Given the description of an element on the screen output the (x, y) to click on. 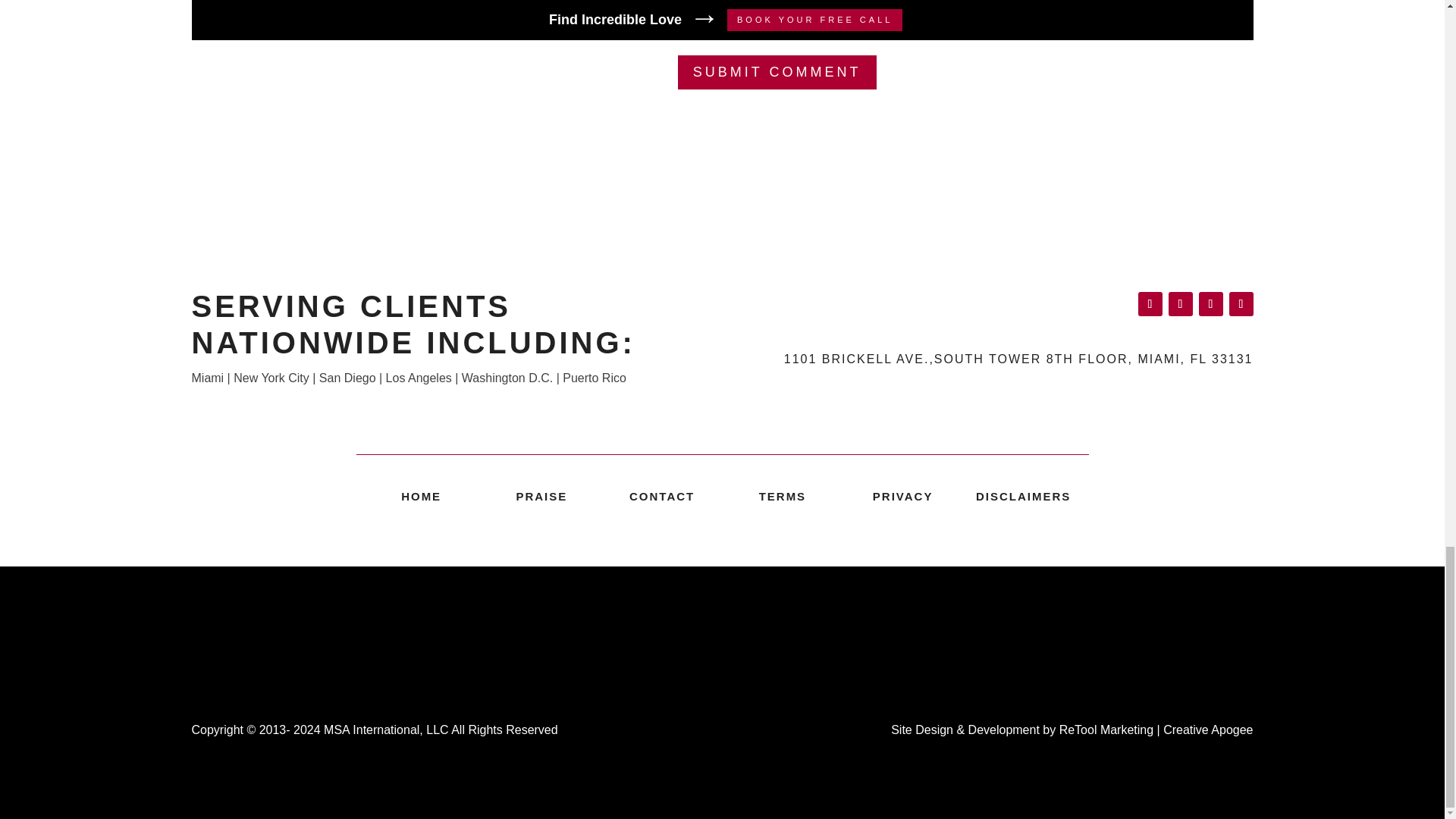
Follow on Facebook (1149, 303)
Follow on Instagram (1210, 303)
Submit Comment (777, 72)
Follow on LinkedIn (1179, 303)
yes (198, 24)
Follow on Youtube (1240, 303)
